Given the description of an element on the screen output the (x, y) to click on. 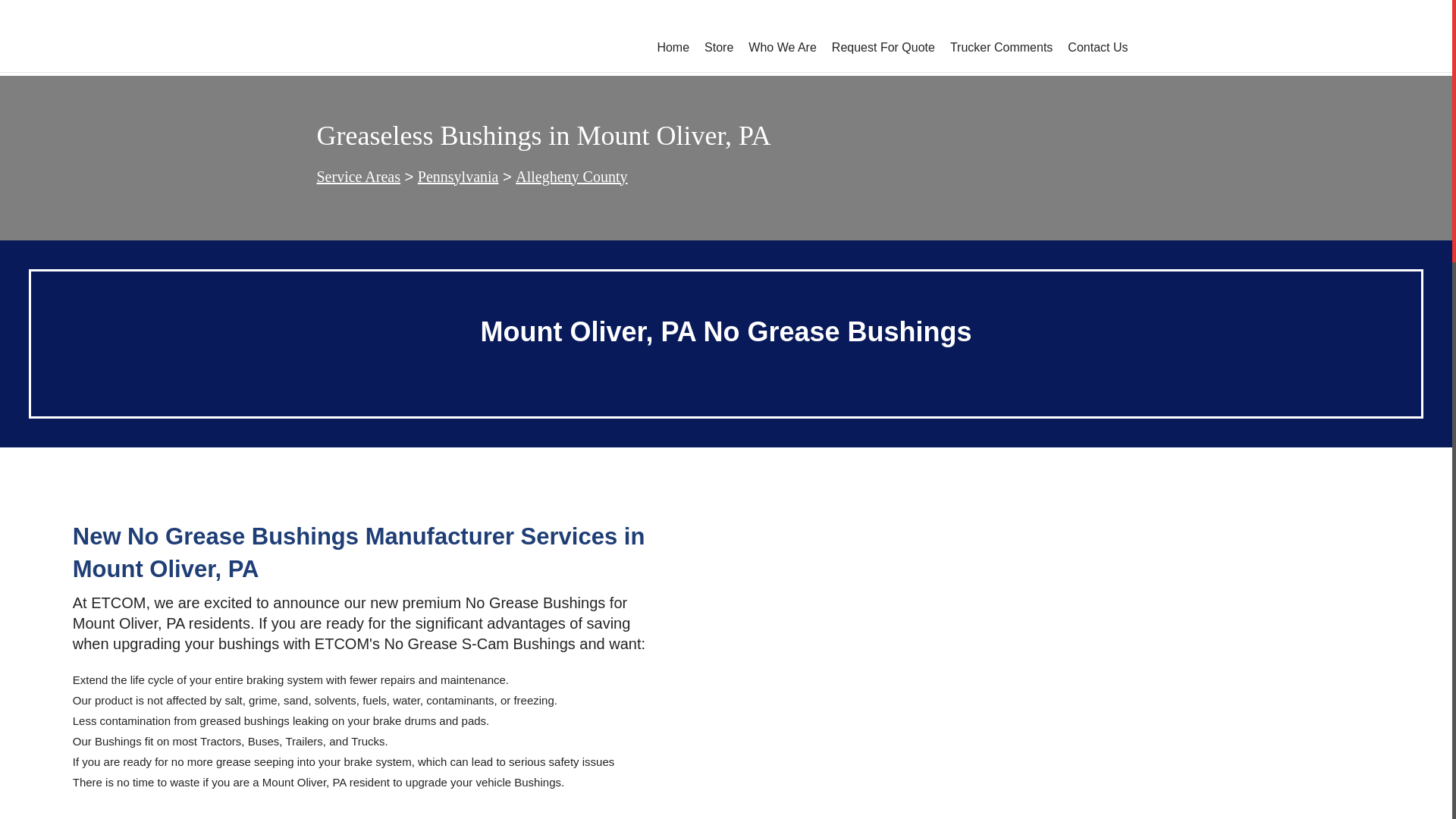
Store (719, 47)
Pennsylvania (458, 176)
Allegheny County (571, 176)
Contact Us (1097, 47)
Home (673, 47)
Trucker Comments (1000, 47)
Service Areas (359, 176)
Who We Are (782, 47)
Request For Quote (883, 47)
